Given the description of an element on the screen output the (x, y) to click on. 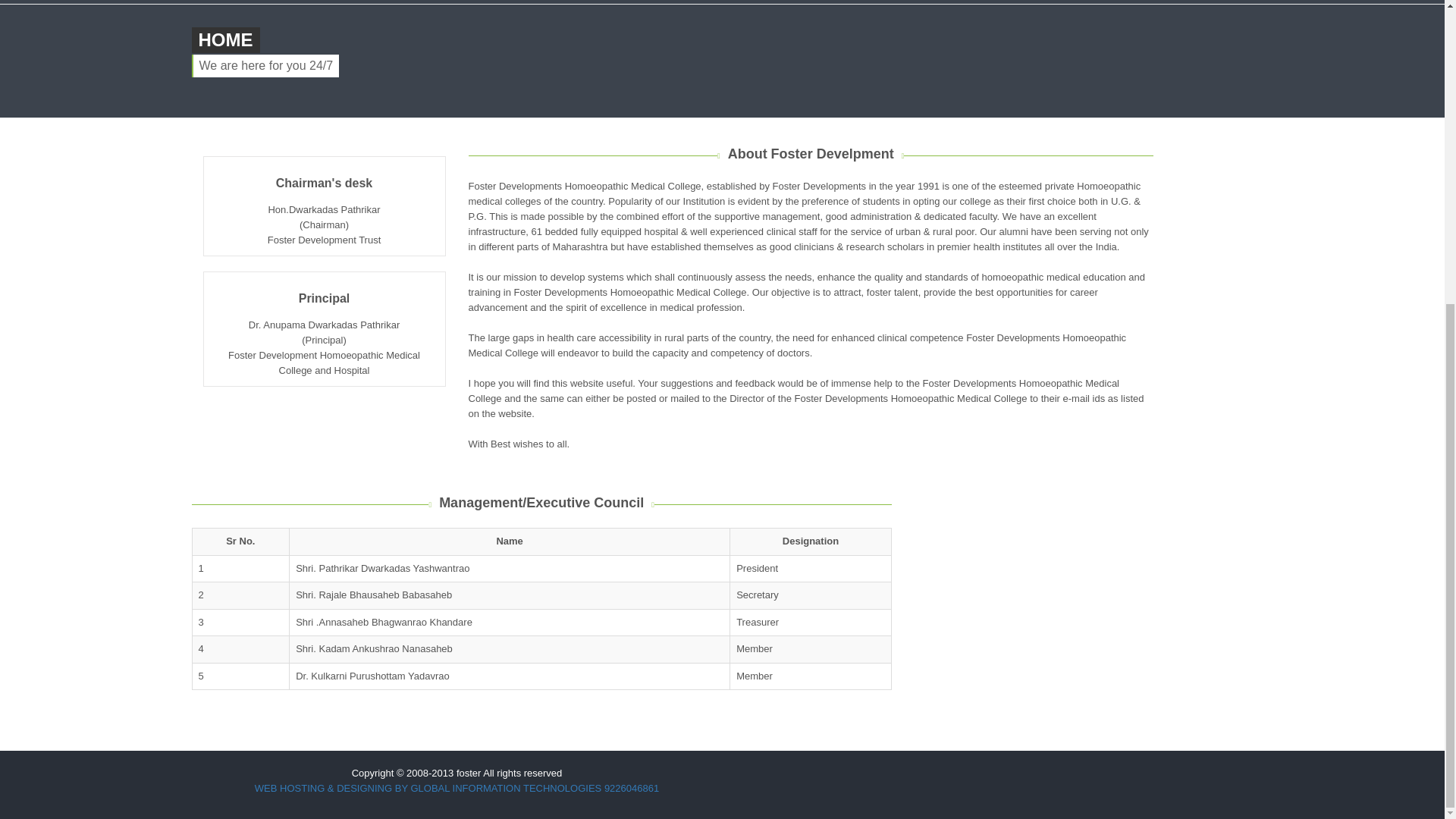
Web solution company in aurangabad. (456, 787)
